Given the description of an element on the screen output the (x, y) to click on. 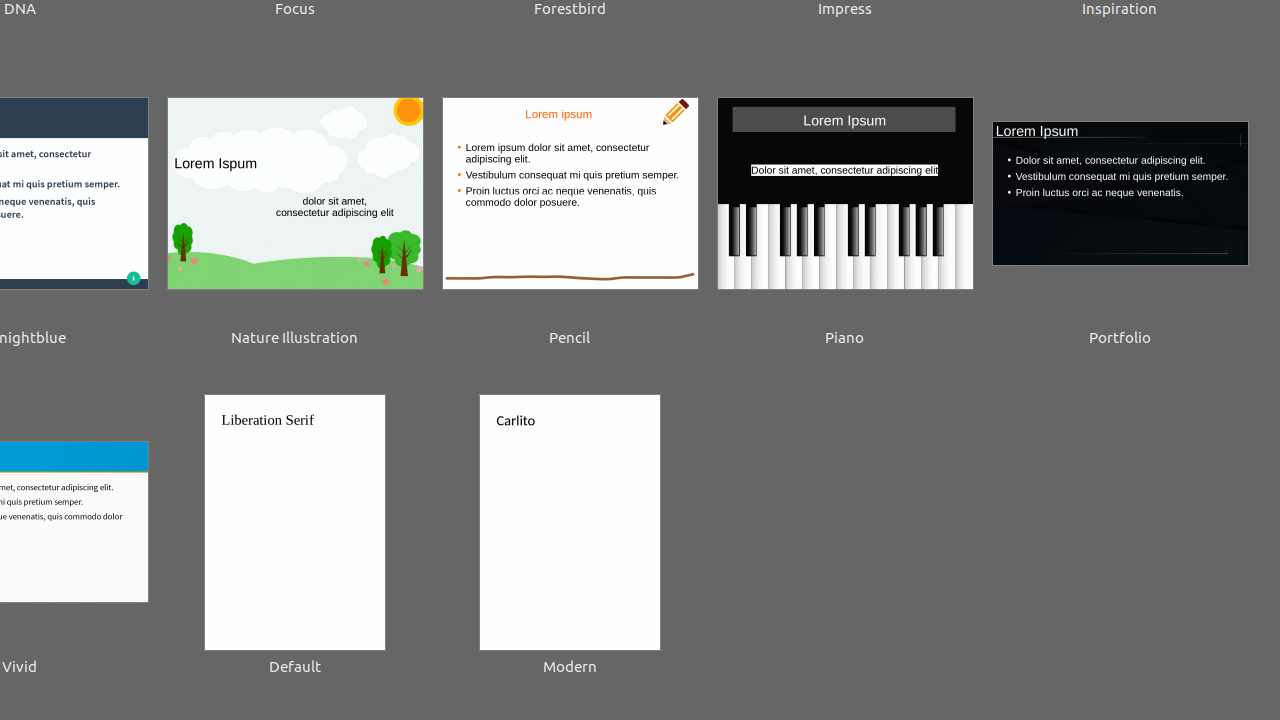
Modern Element type: list-item (570, 537)
Pencil Element type: list-item (570, 208)
Piano Element type: list-item (845, 208)
Nature Illustration Element type: list-item (295, 208)
Portfolio Element type: list-item (1120, 208)
